Given the description of an element on the screen output the (x, y) to click on. 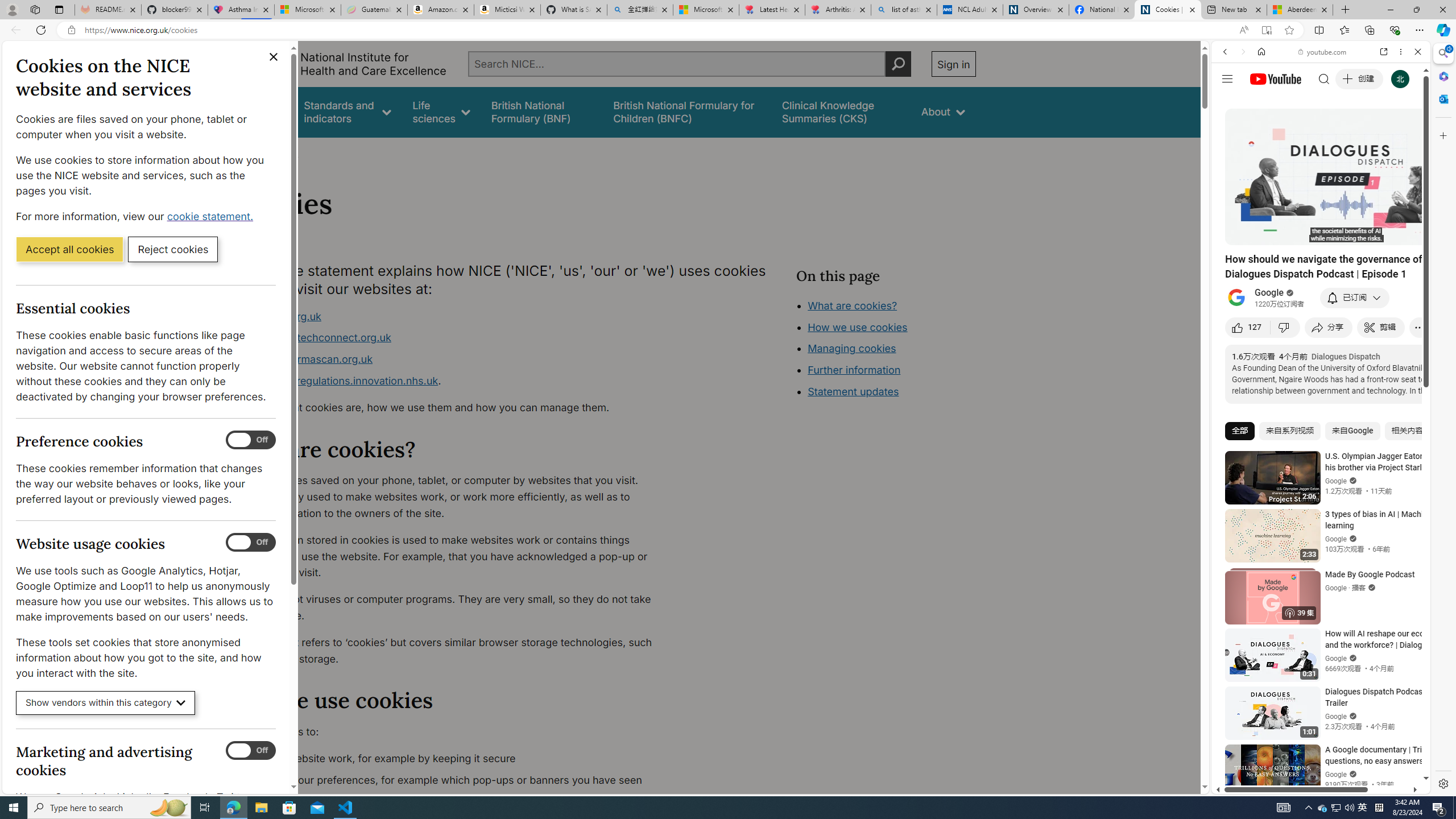
Dialogues Dispatch (1345, 356)
www.ukpharmascan.org.uk (305, 359)
Preference cookies (250, 439)
US[ju] (1249, 785)
Search videos from youtube.com (1299, 373)
